Given the description of an element on the screen output the (x, y) to click on. 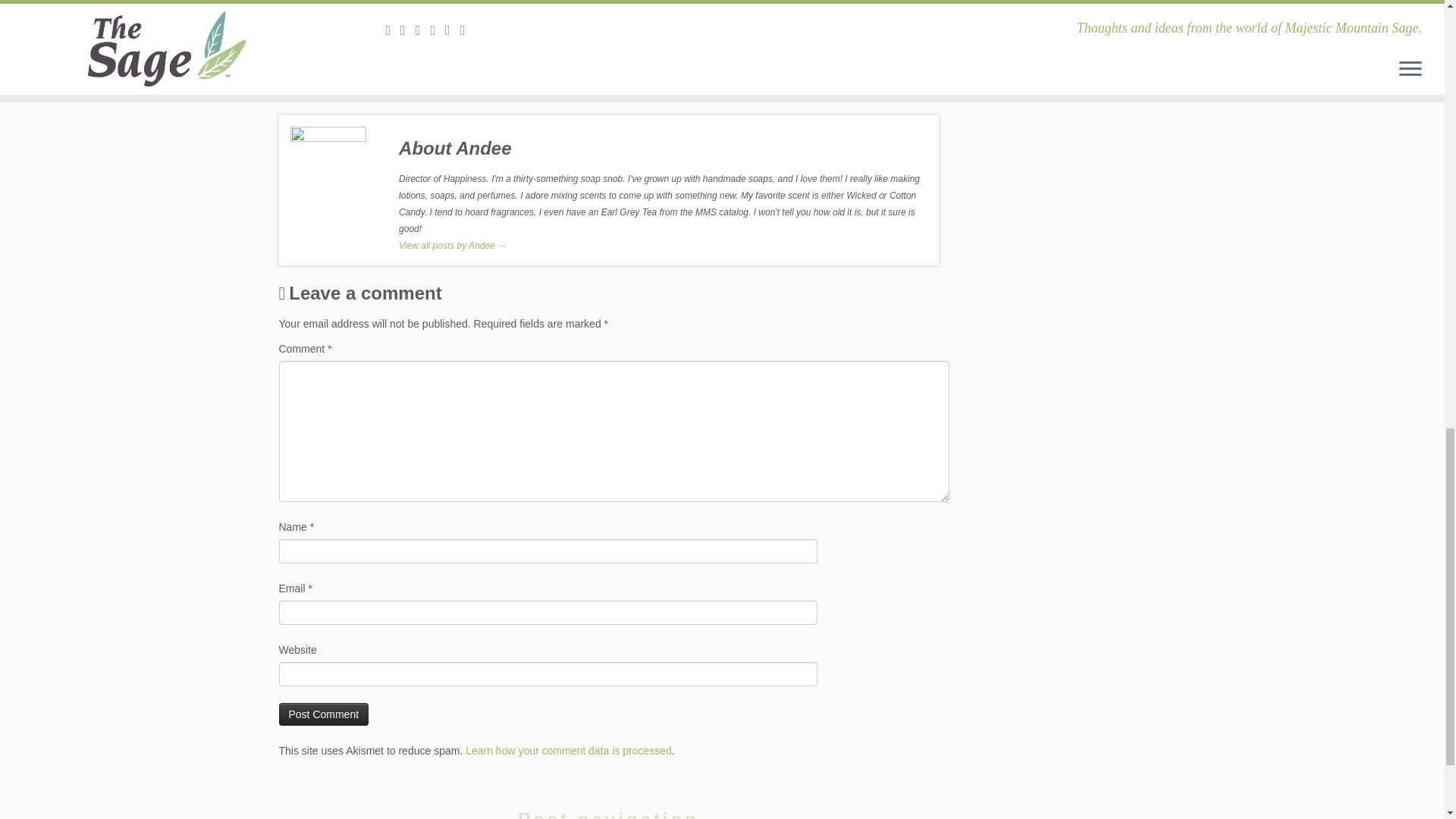
Post Comment (324, 713)
Post Comment (324, 713)
Learn how your comment data is processed (568, 750)
